Given the description of an element on the screen output the (x, y) to click on. 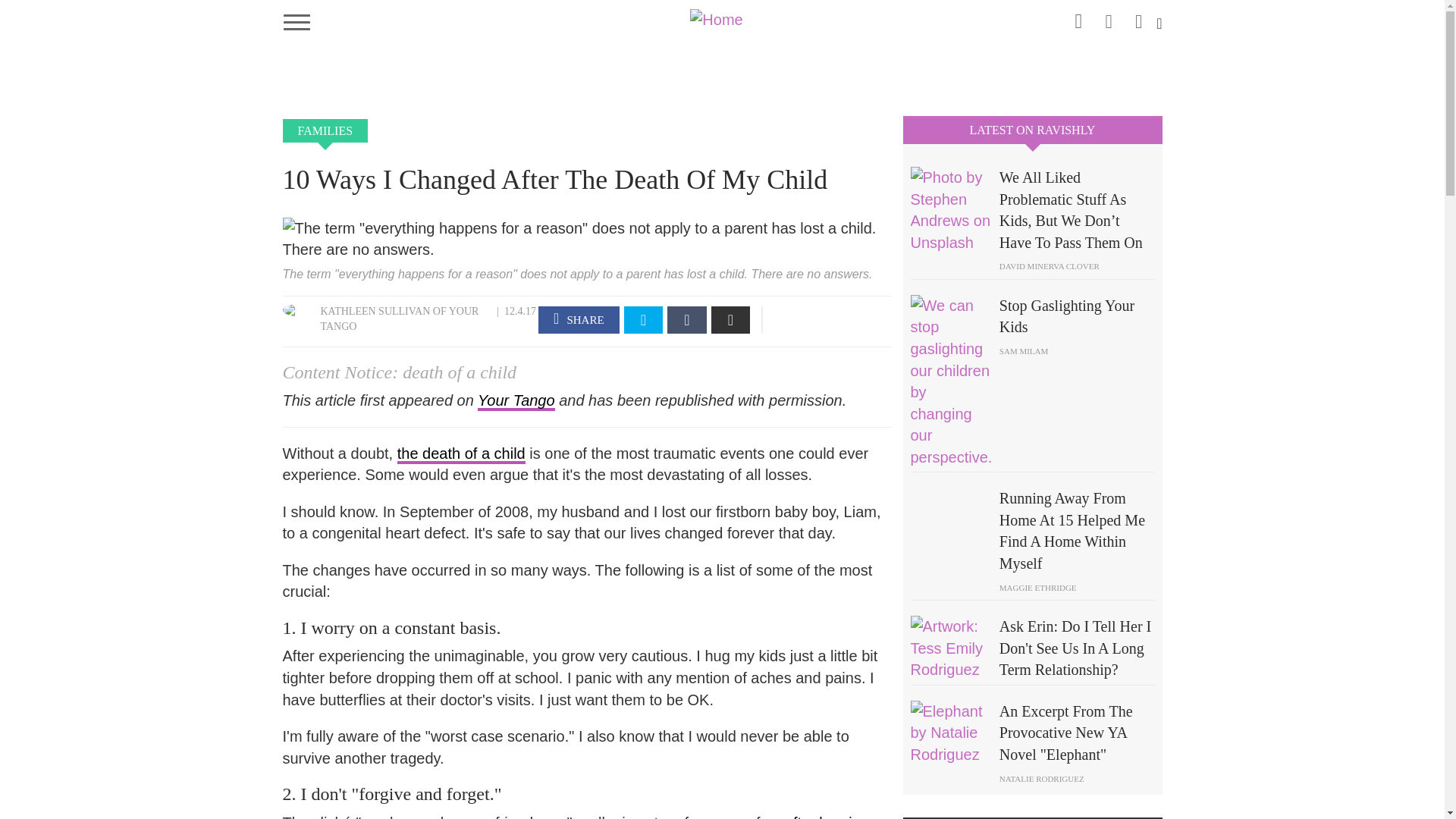
facebook (1108, 16)
FAMILIES (325, 130)
twitter (643, 319)
instagram (1077, 18)
facebook (579, 319)
Tumblr (686, 319)
KATHLEEN SULLIVAN (374, 310)
twitter (1138, 16)
Email (731, 319)
